Given the description of an element on the screen output the (x, y) to click on. 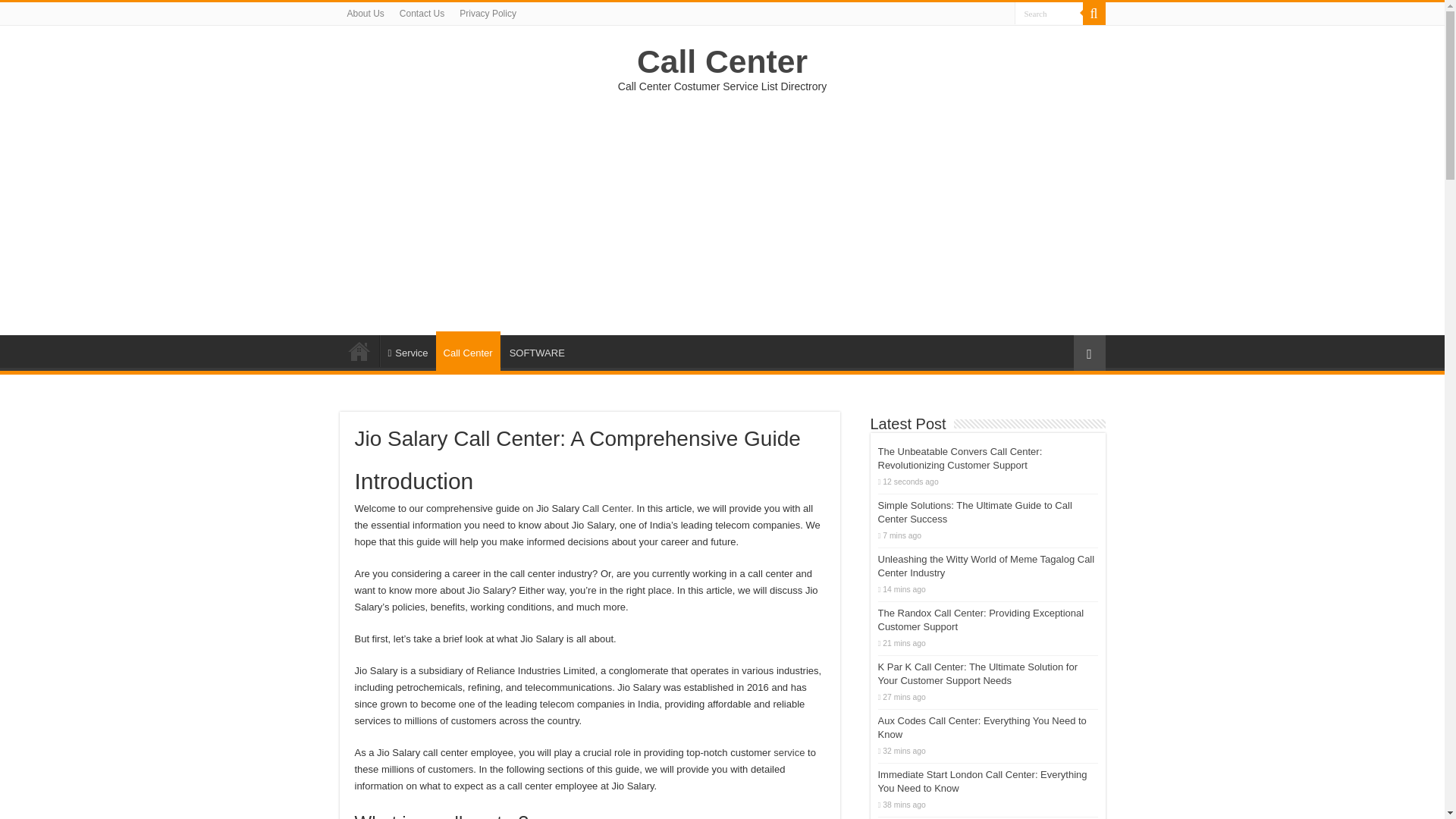
Search (1048, 13)
Aux Codes Call Center: Everything You Need to Know (981, 727)
Service (406, 350)
Call Center (606, 508)
Privacy Policy (487, 13)
SOFTWARE (536, 350)
service (789, 752)
Search (1048, 13)
